Given the description of an element on the screen output the (x, y) to click on. 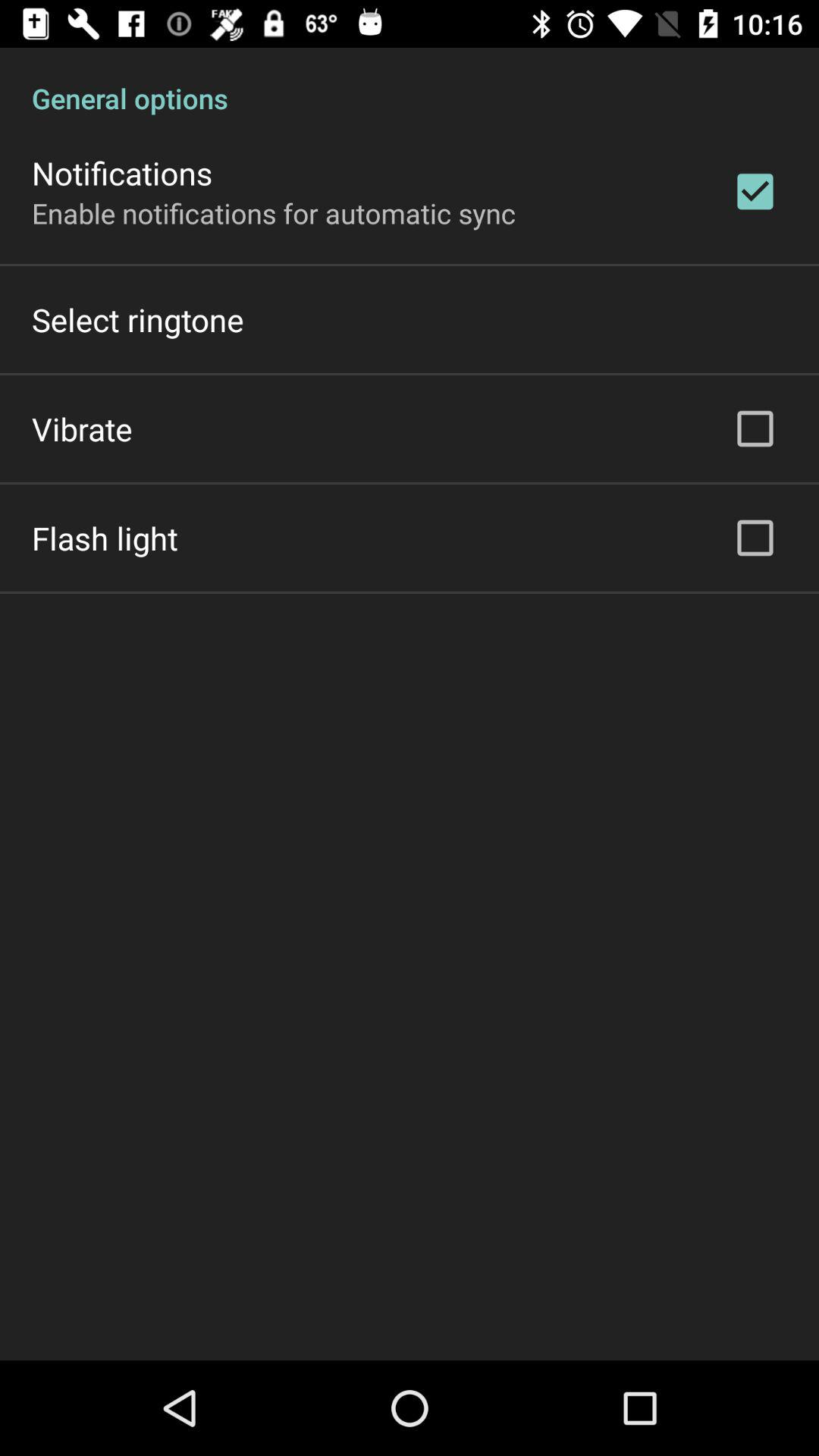
turn off the icon below vibrate (104, 537)
